Given the description of an element on the screen output the (x, y) to click on. 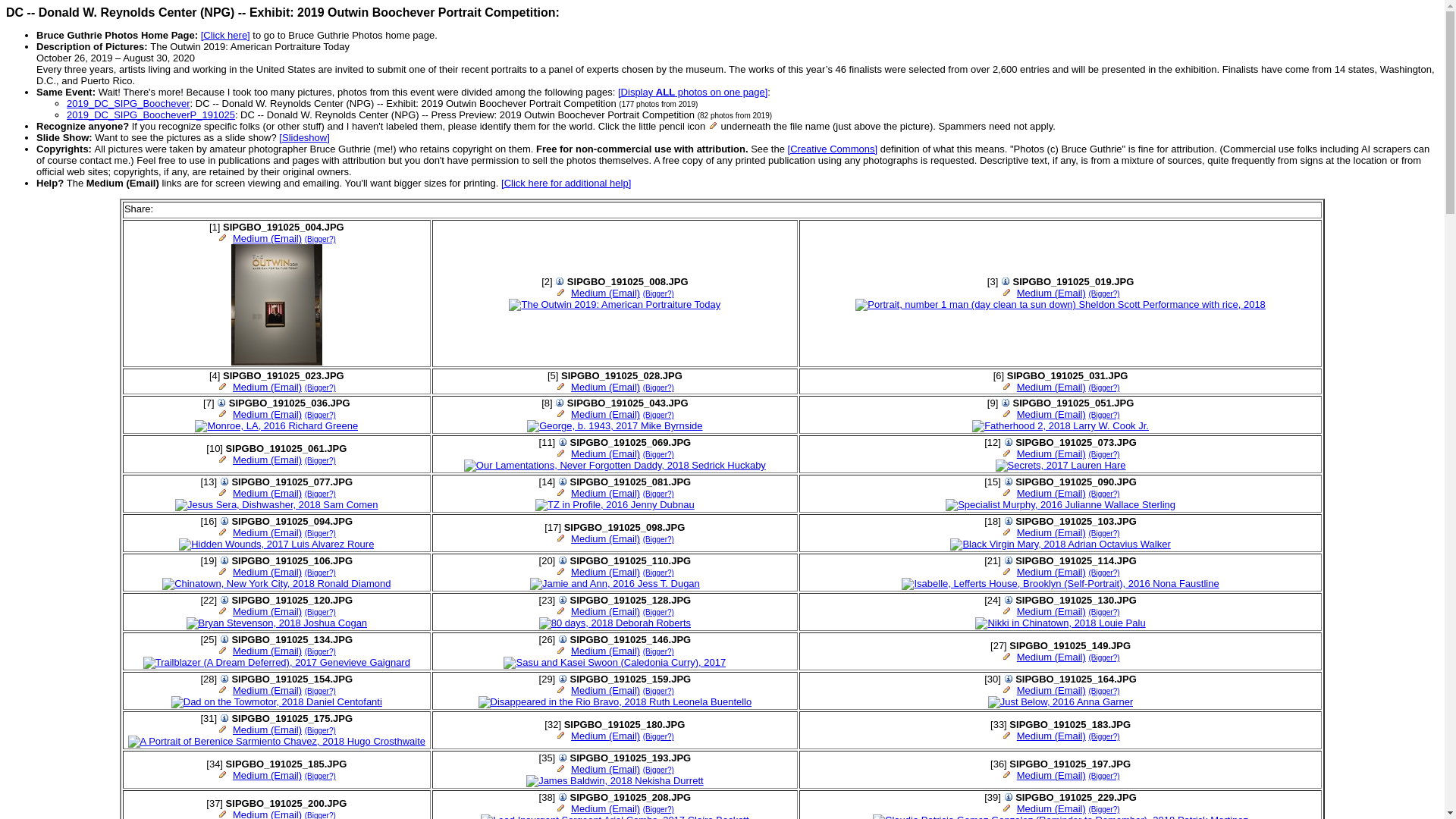
Twitter (177, 209)
Digg (193, 209)
Facebook (162, 209)
